Given the description of an element on the screen output the (x, y) to click on. 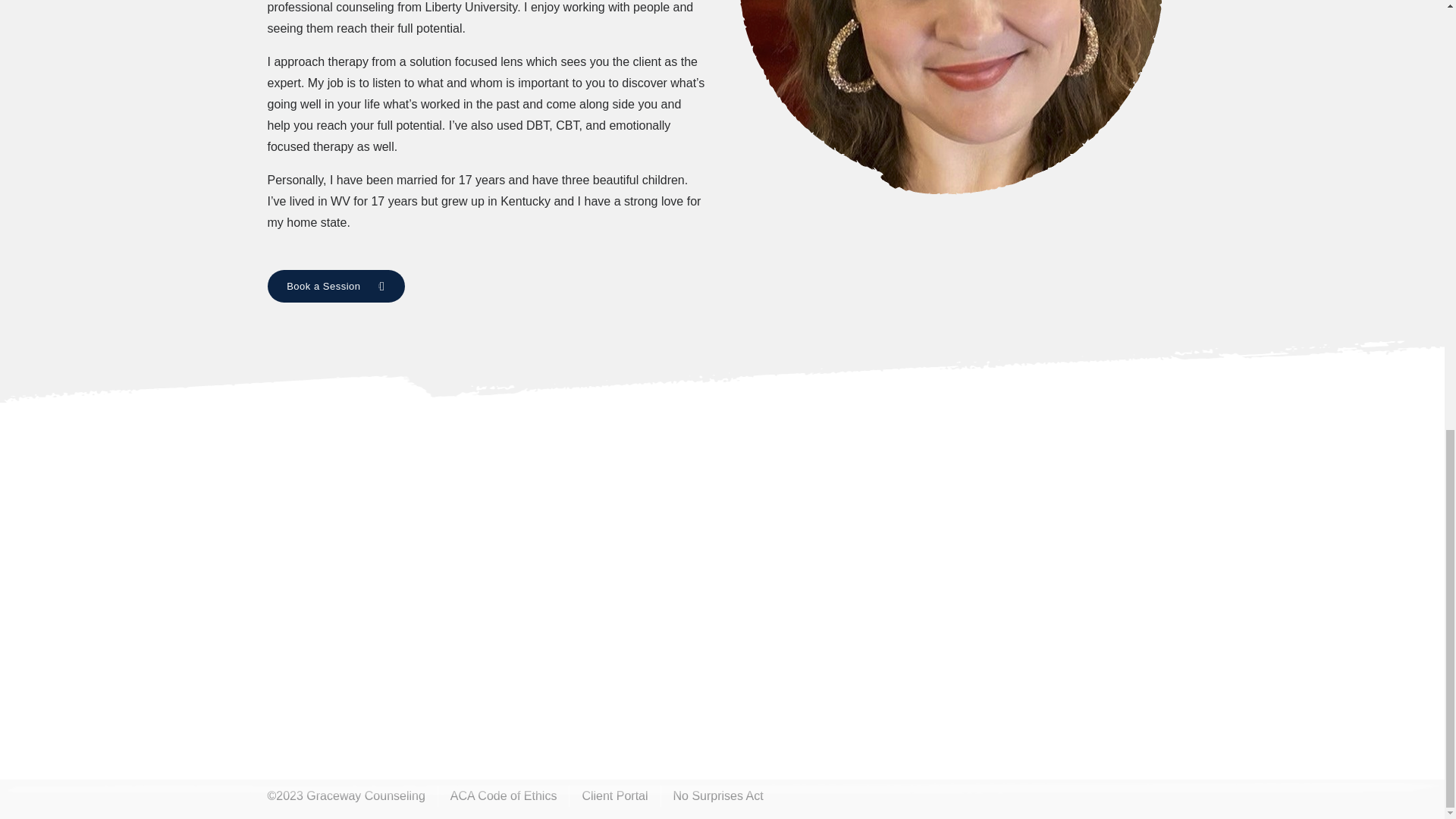
Book a Session (335, 286)
Book a Session (335, 286)
